Given the description of an element on the screen output the (x, y) to click on. 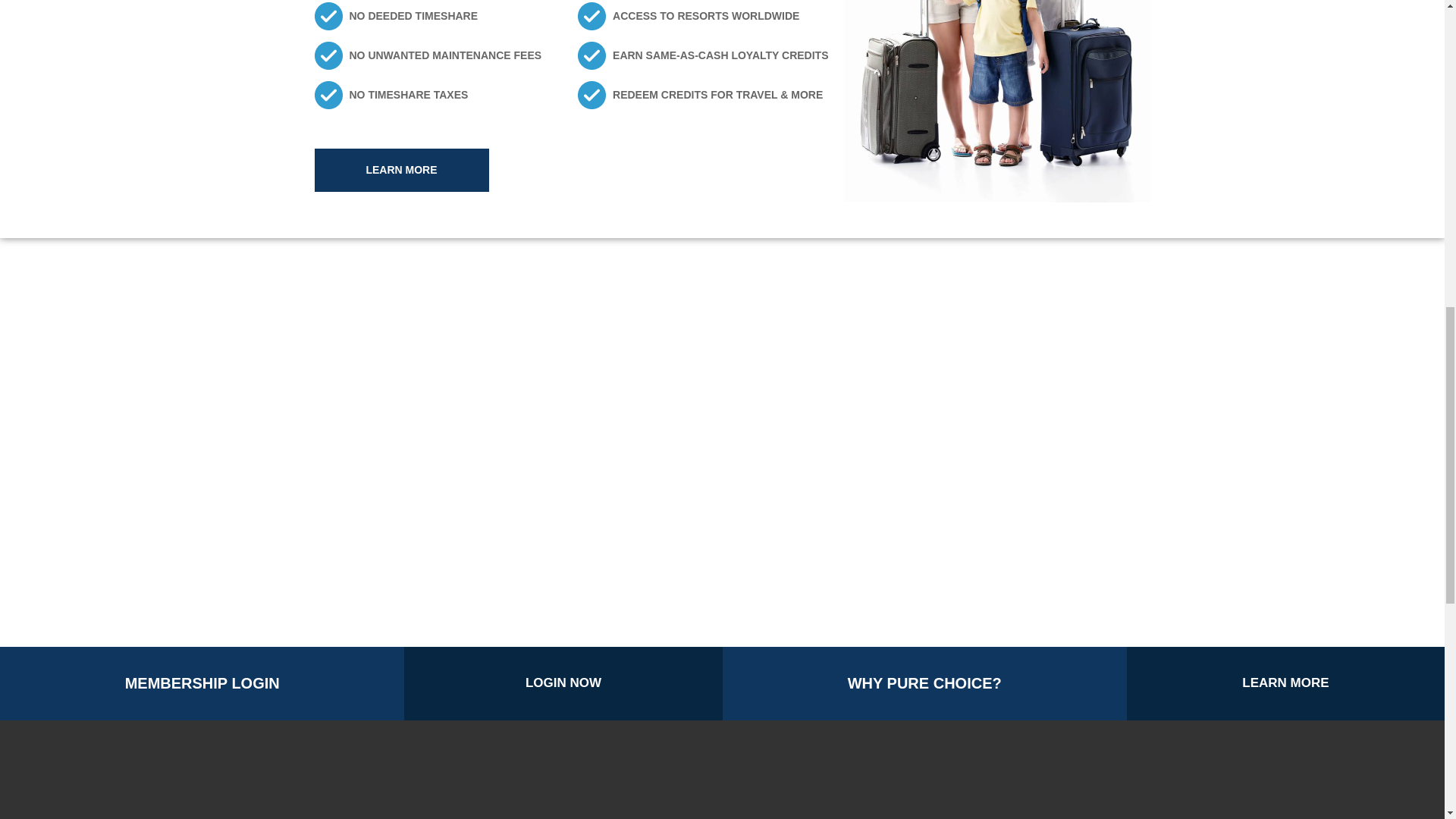
LOGIN NOW (563, 683)
LEARN MORE (400, 169)
MEMBERSHIP LOGIN (202, 683)
WHY PURE CHOICE? (923, 683)
